Given the description of an element on the screen output the (x, y) to click on. 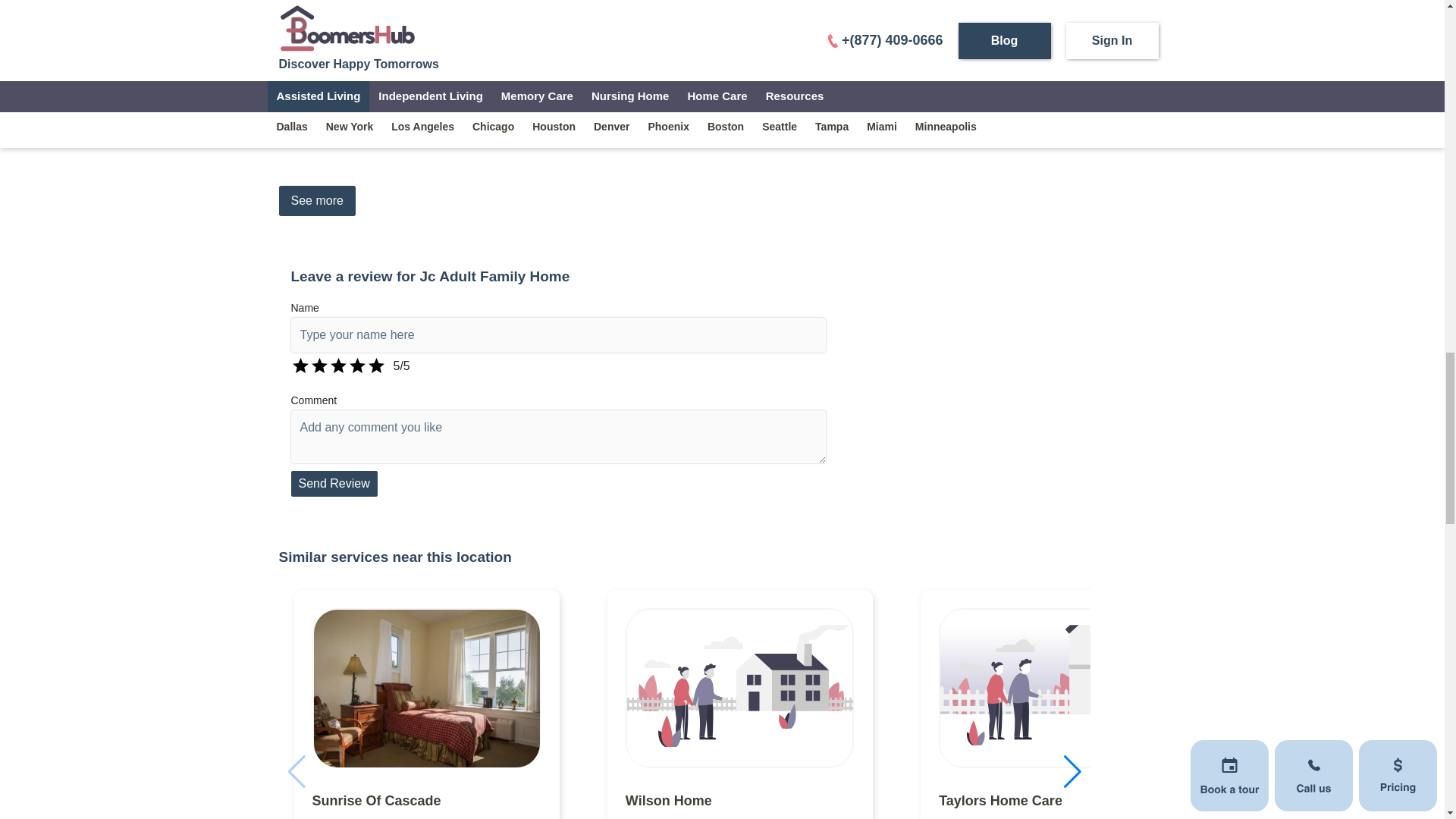
Send Review (334, 483)
